Given the description of an element on the screen output the (x, y) to click on. 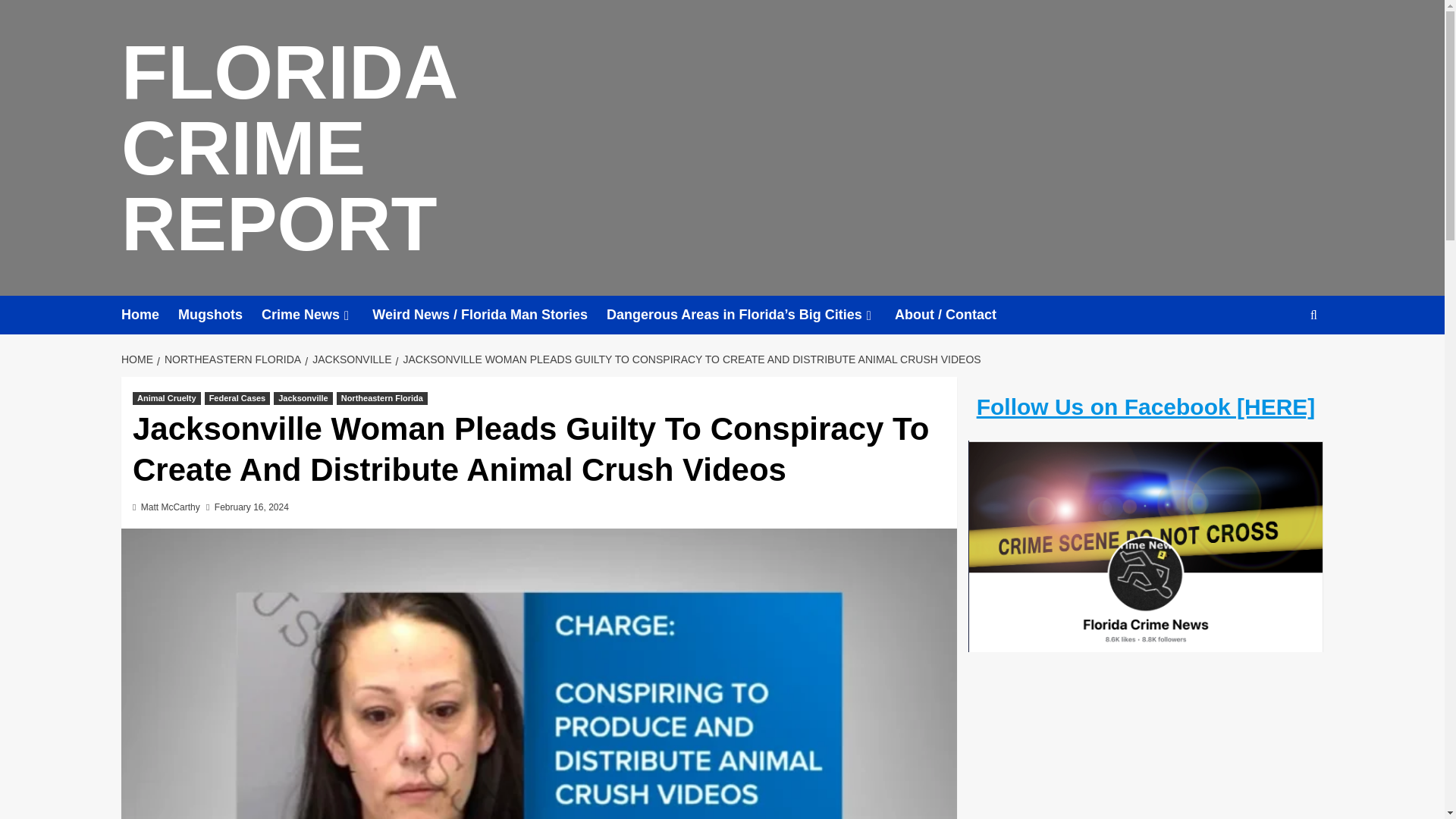
Northeastern Florida (382, 398)
NORTHEASTERN FLORIDA (230, 358)
Search (1278, 360)
Federal Cases (237, 398)
Crime News (317, 314)
Home (148, 314)
FLORIDA CRIME REPORT (287, 147)
Advertisement (1145, 747)
JACKSONVILLE (349, 358)
HOME (138, 358)
Mugshots (219, 314)
Animal Cruelty (166, 398)
Jacksonville (302, 398)
Matt McCarthy (170, 507)
